Given the description of an element on the screen output the (x, y) to click on. 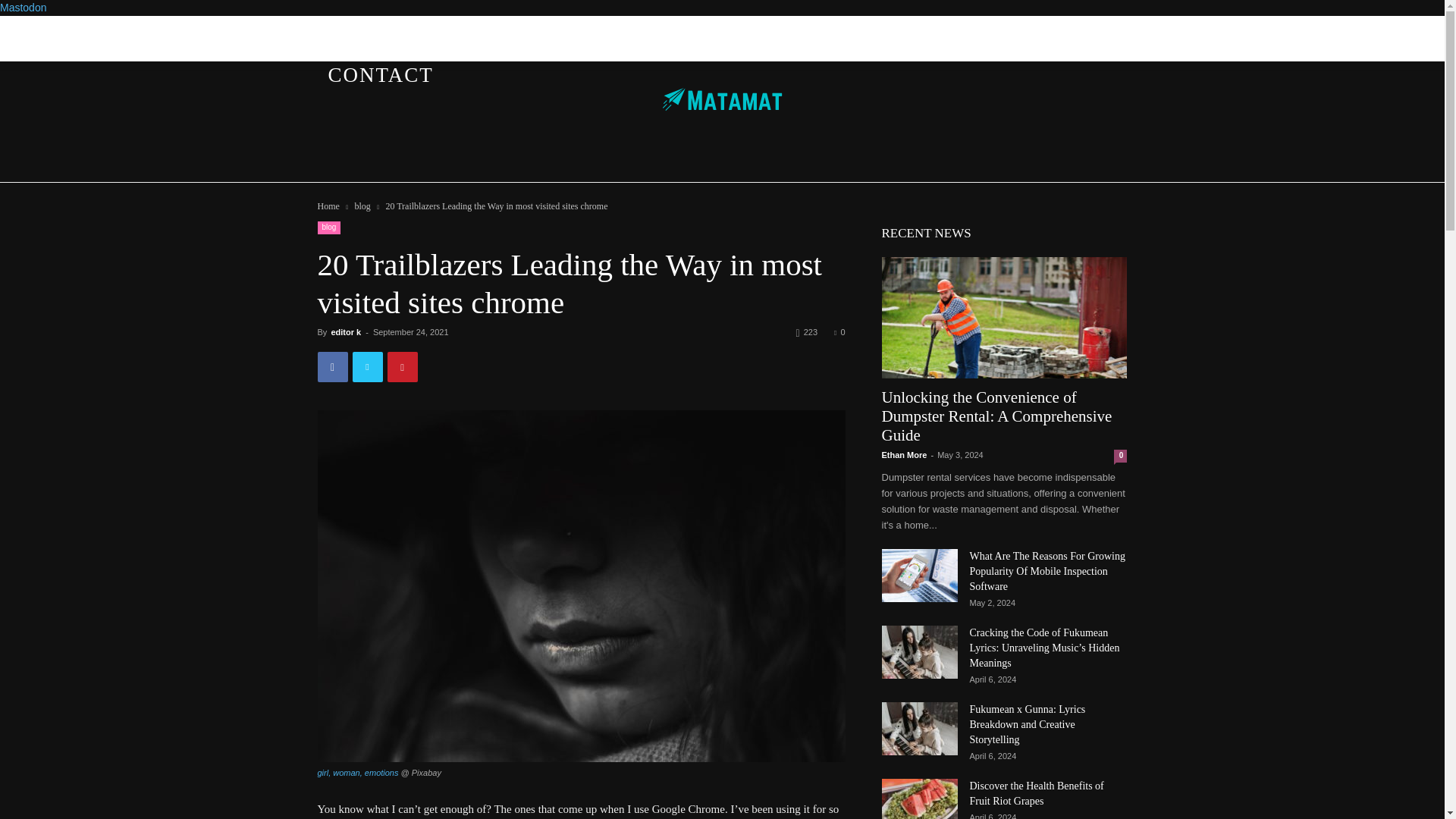
editor k (345, 331)
Search (1085, 103)
Enhance with Matamat (721, 99)
FEATURES (556, 35)
Home (328, 205)
Mastodon (23, 7)
HOME (360, 35)
INTERVIEWS (827, 35)
blog (328, 227)
OPINIONS (971, 35)
blog (361, 205)
View all posts in blog (361, 205)
NEWS (447, 35)
REVIEWS (686, 35)
